Given the description of an element on the screen output the (x, y) to click on. 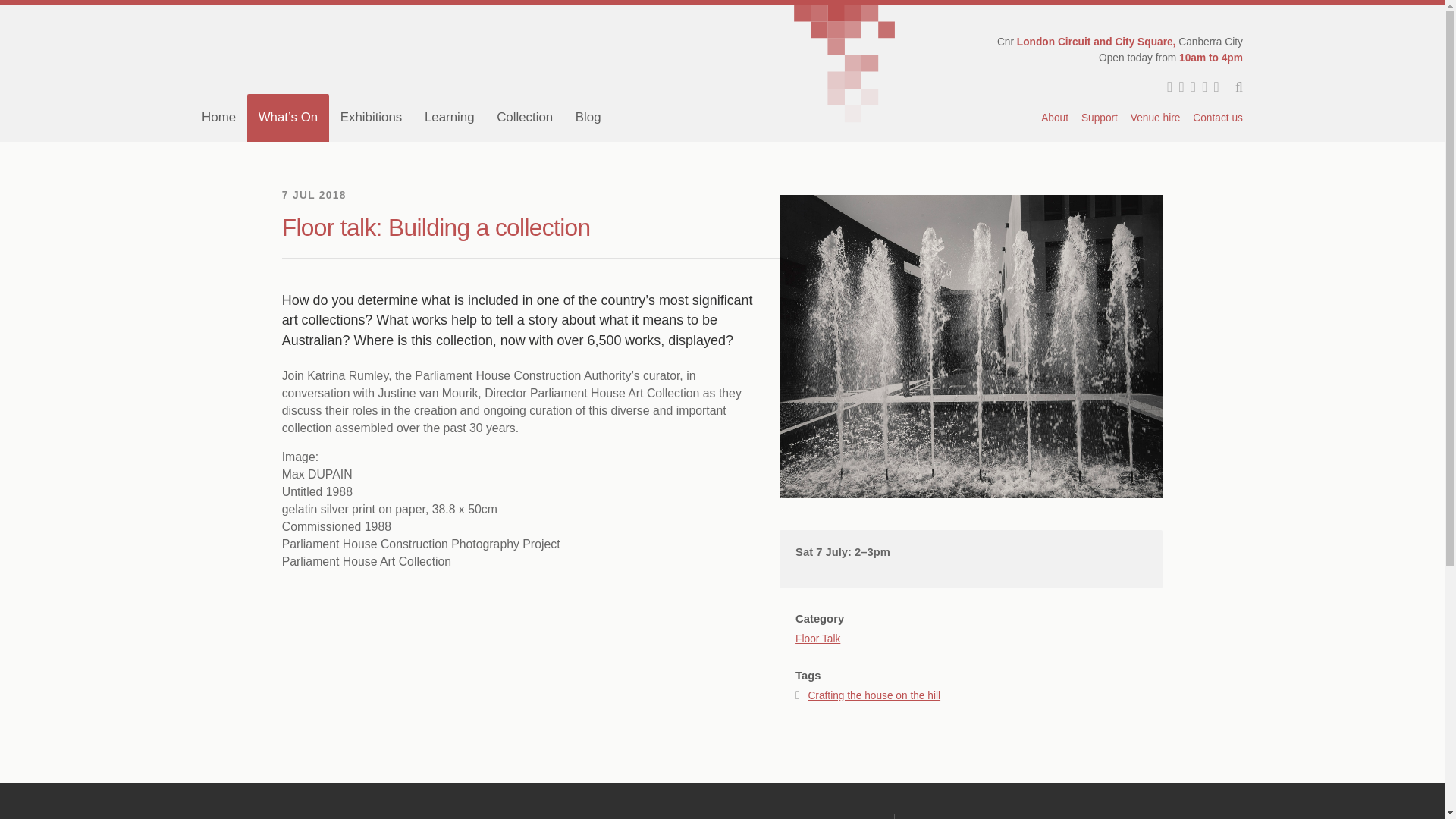
Floor Talk (817, 626)
Home (218, 117)
Contact us (1214, 118)
Collection (524, 117)
Search Canberra Museum and Gallery (1231, 87)
About (1055, 118)
Canberra Museum and Gallery (433, 48)
Crafting the house on the hill (874, 695)
Exhibitions (371, 117)
Blog (587, 117)
Venue hire (1155, 118)
Support (1099, 118)
Learning (448, 117)
